Given the description of an element on the screen output the (x, y) to click on. 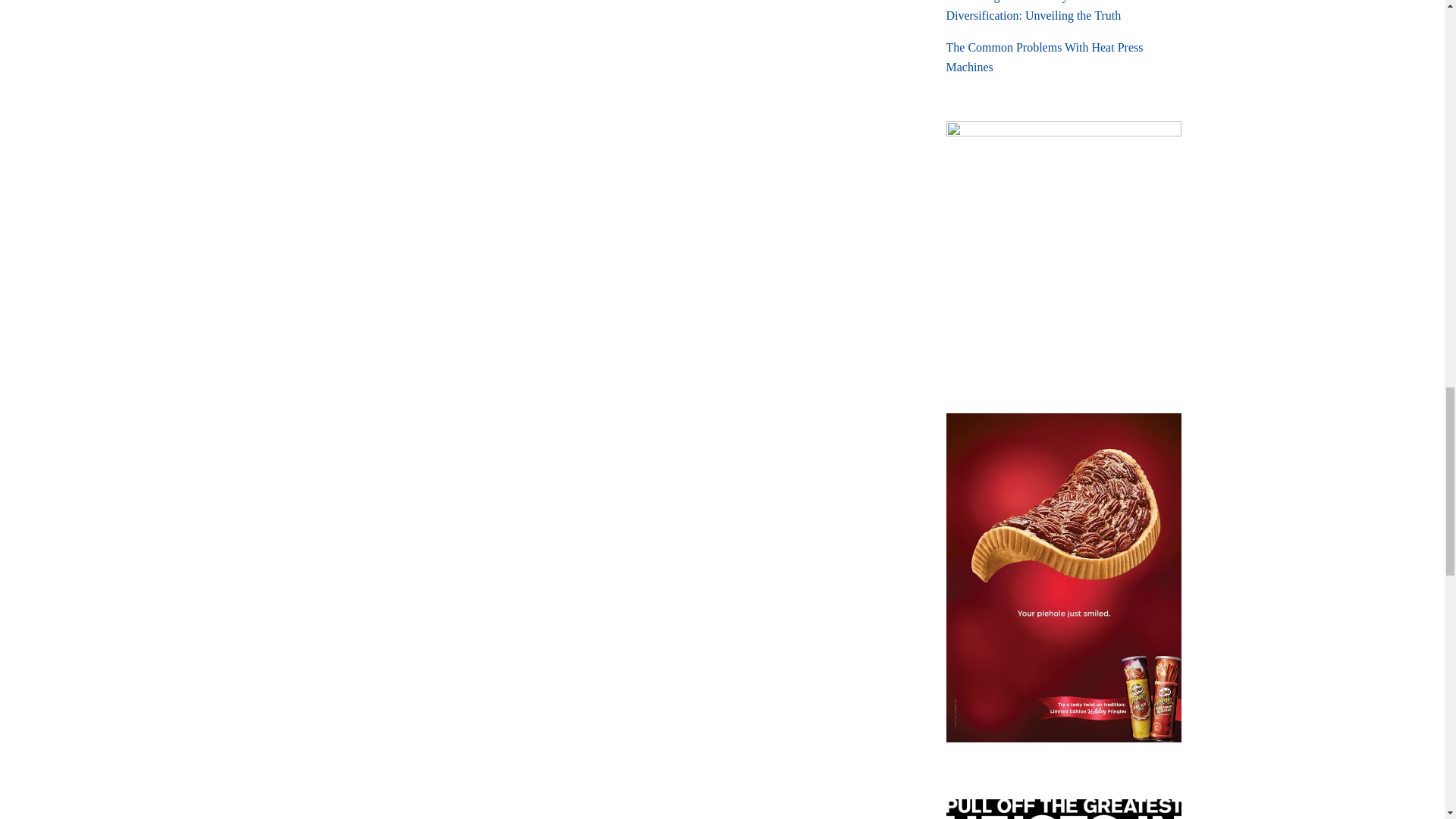
The Common Problems With Heat Press Machines (1063, 56)
